Given the description of an element on the screen output the (x, y) to click on. 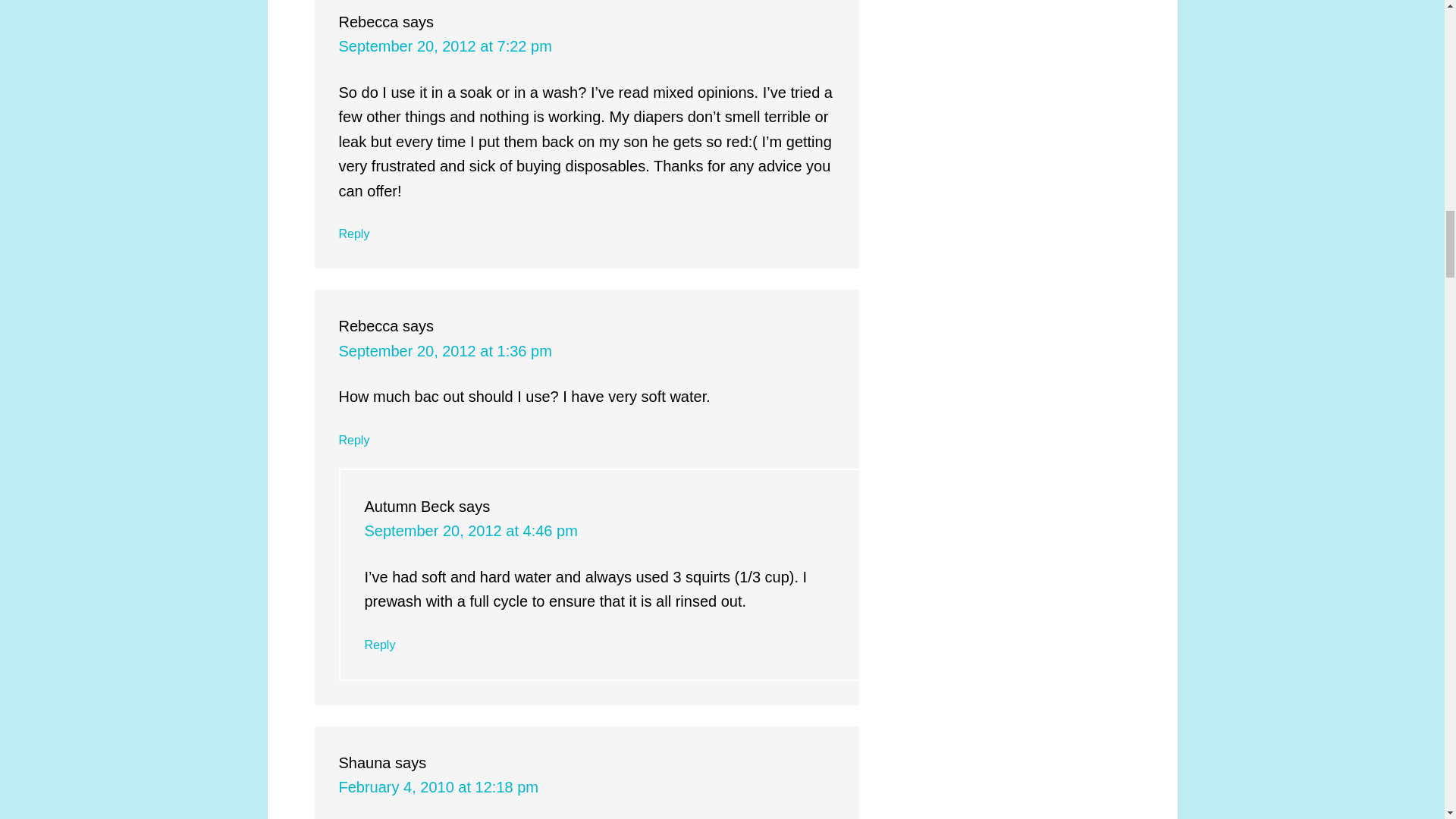
Reply (379, 644)
September 20, 2012 at 7:22 pm (444, 45)
Reply (353, 440)
Reply (353, 233)
February 4, 2010 at 12:18 pm (437, 786)
September 20, 2012 at 4:46 pm (470, 530)
September 20, 2012 at 1:36 pm (444, 351)
